Given the description of an element on the screen output the (x, y) to click on. 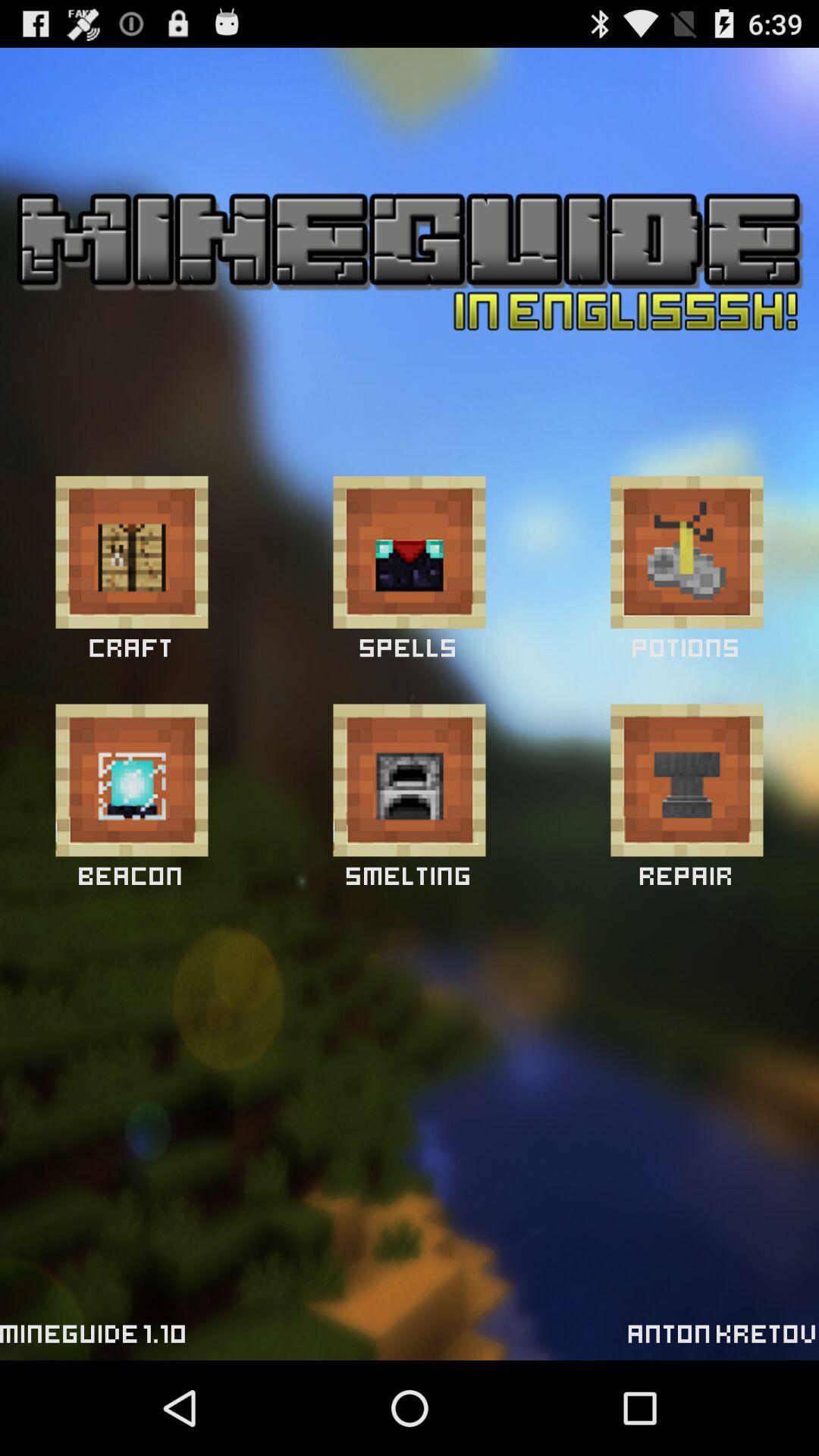
play smelting (409, 780)
